Given the description of an element on the screen output the (x, y) to click on. 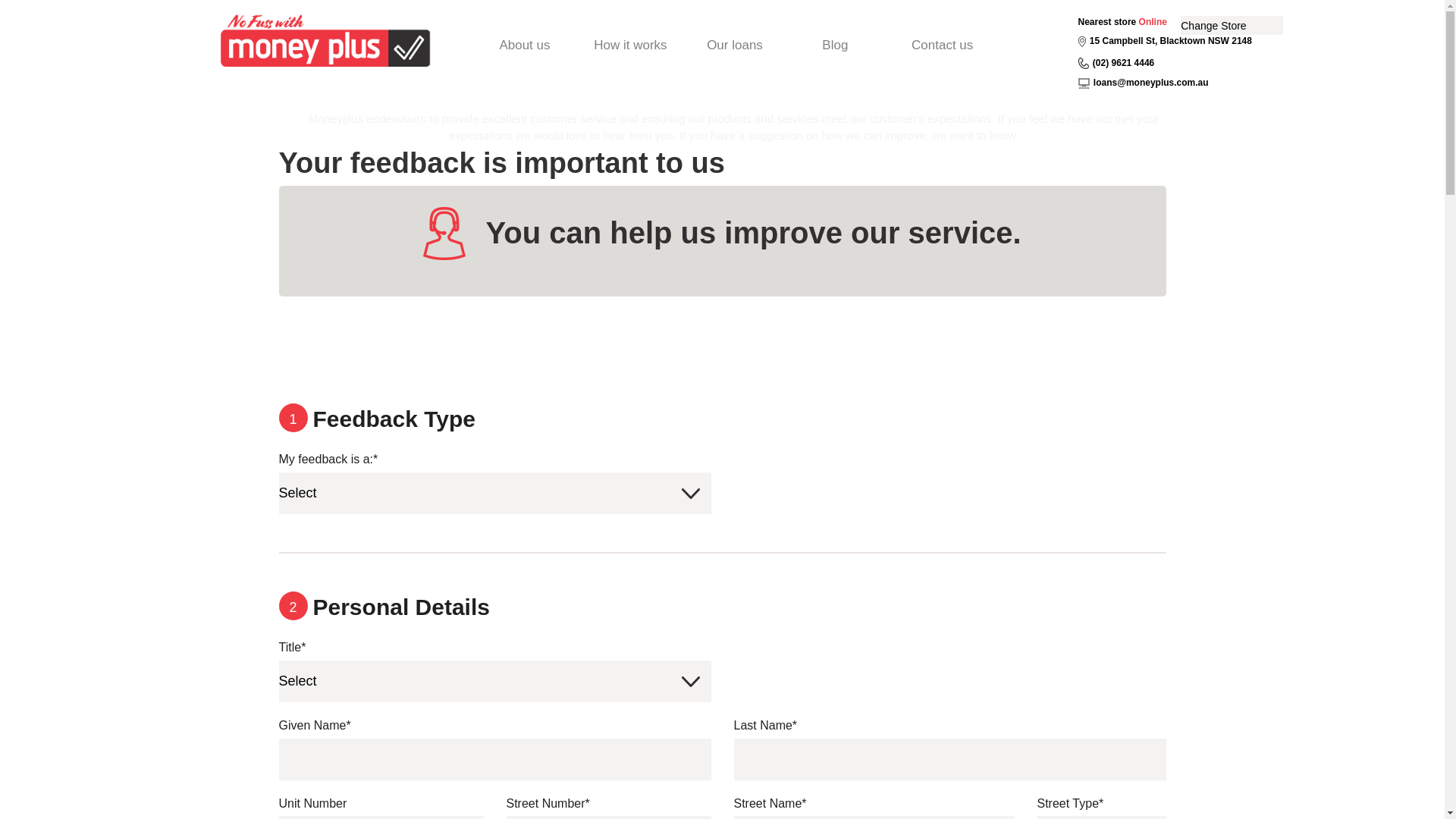
Change Store Element type: text (1231, 24)
loans@moneyplus.com.au Element type: text (1150, 82)
(02) 9621 4446 Element type: text (1123, 62)
Select Element type: text (495, 493)
Online Element type: text (1153, 21)
How it works Element type: text (630, 45)
Our loans Element type: text (734, 45)
About us Element type: text (524, 45)
Select Element type: text (495, 681)
Blog Element type: text (835, 45)
Contact us Element type: text (942, 45)
